Given the description of an element on the screen output the (x, y) to click on. 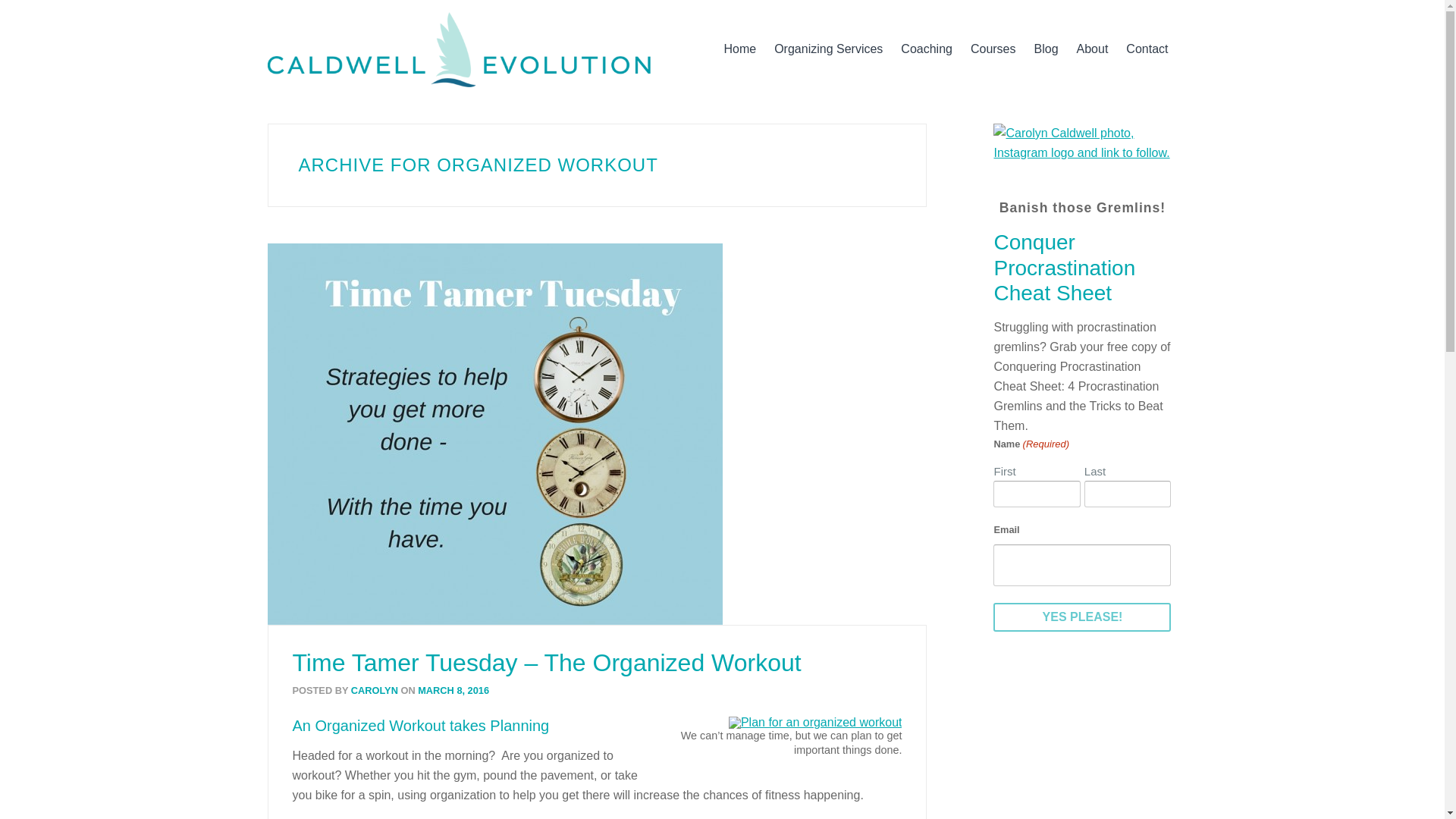
Contact (1146, 49)
Yes Please! (1081, 616)
Organizing Services (828, 49)
About (1092, 49)
Home (739, 49)
CAROLYN (373, 690)
Blog (1045, 49)
Yes Please! (1081, 616)
 MARCH 8, 2016 (451, 690)
Caldwell Evolution (457, 49)
